Given the description of an element on the screen output the (x, y) to click on. 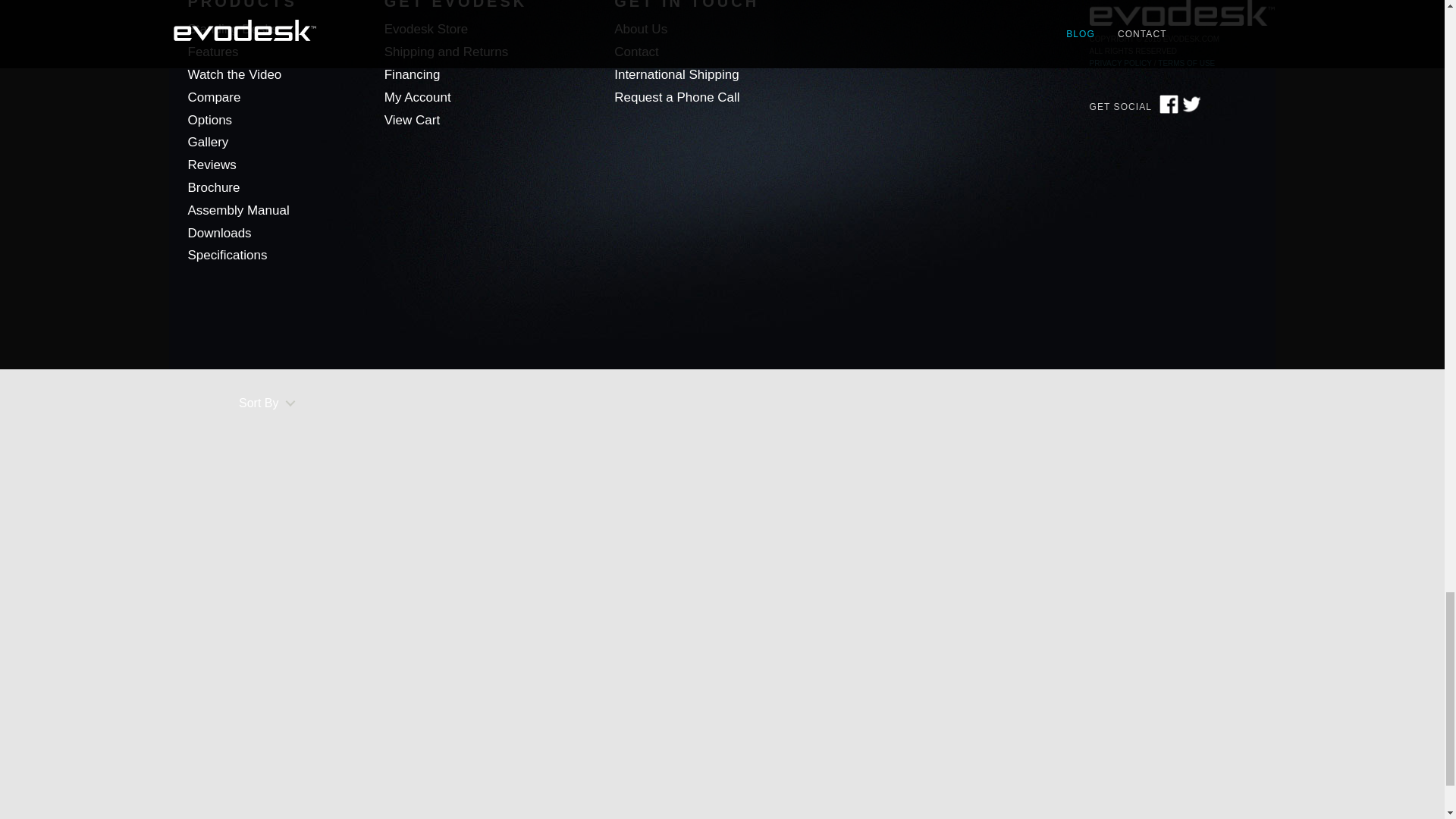
Specifications (227, 255)
Compare (214, 97)
Standing Desks (232, 29)
Watch the Video (234, 74)
About Us (640, 29)
Shipping and Returns (446, 51)
Gallery (207, 142)
Brochure (213, 187)
Reviews (211, 164)
My Account (417, 97)
Request a Phone Call (676, 97)
TERMS OF USE (1185, 63)
Features (212, 51)
Financing (412, 74)
International Shipping (676, 74)
